Given the description of an element on the screen output the (x, y) to click on. 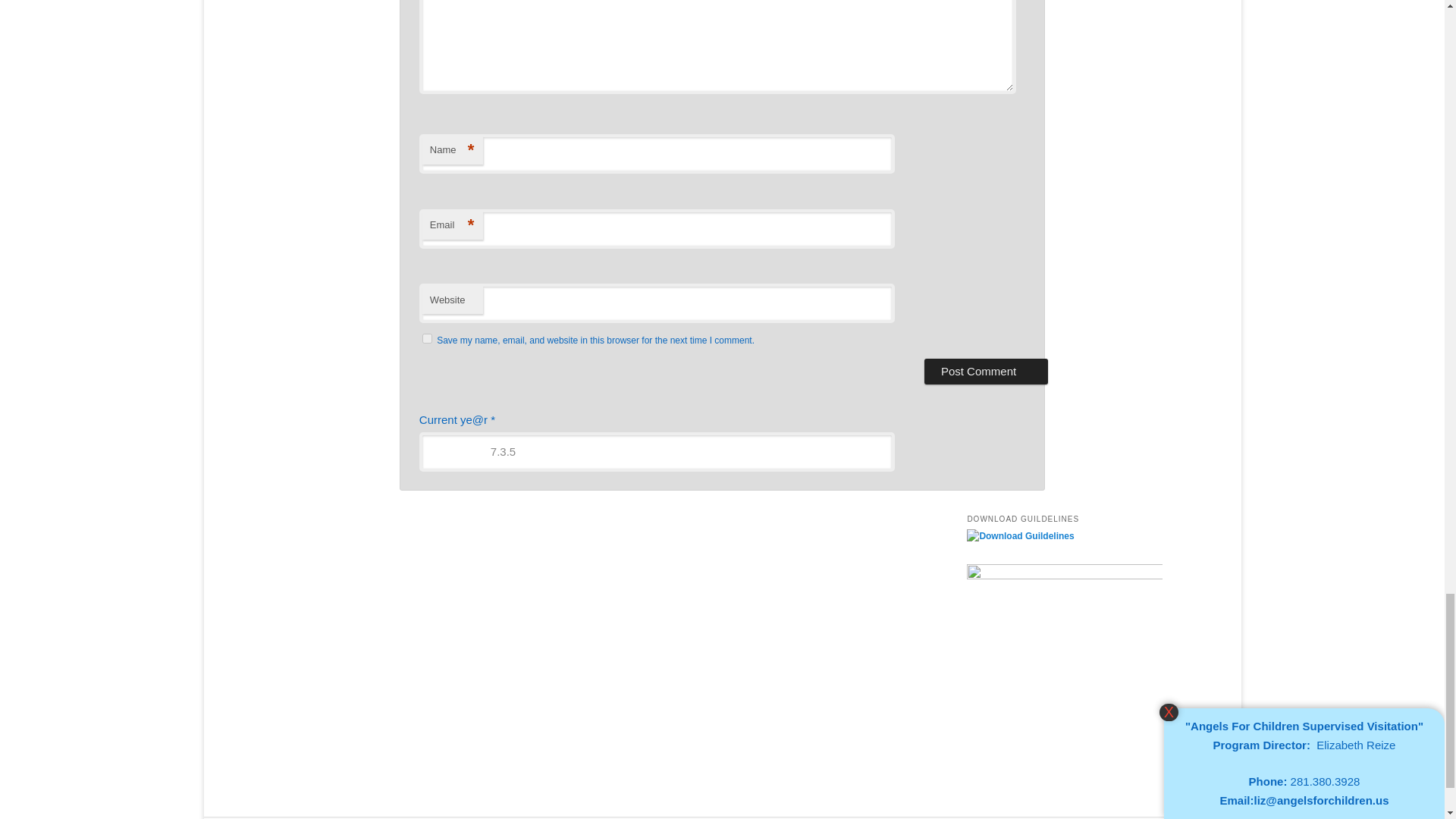
Post Comment (986, 371)
Post Comment (986, 371)
yes (427, 338)
Download Guildelines (1020, 535)
7.3.5 (657, 451)
